Given the description of an element on the screen output the (x, y) to click on. 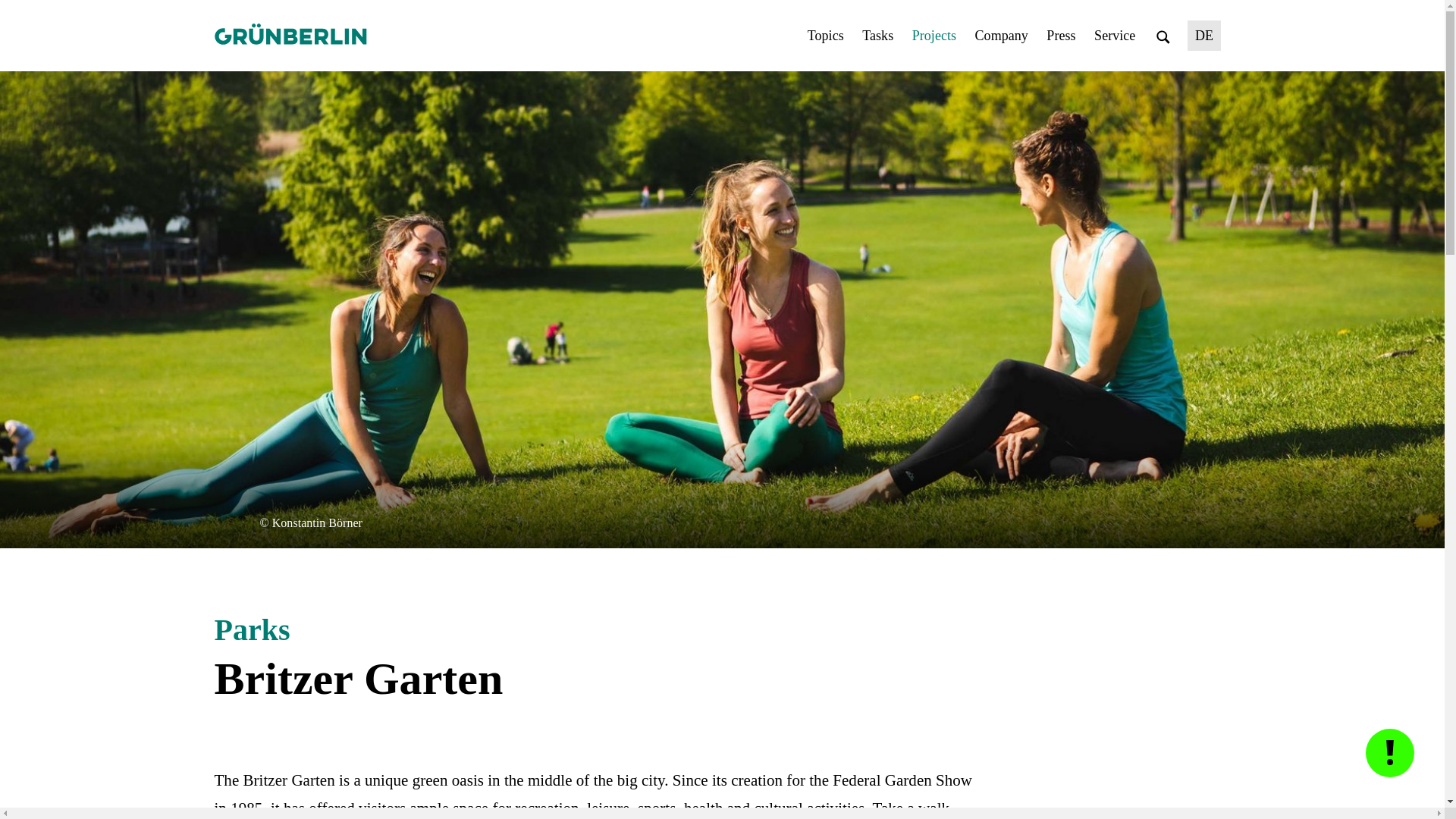
Search (1163, 35)
Service (1114, 35)
Topics (826, 35)
Company (1001, 35)
Topics (826, 35)
Projects (934, 35)
Tasks (877, 35)
Projects (934, 35)
Tasks (877, 35)
Service (1114, 35)
DE (1204, 35)
Press (1060, 35)
Company (1001, 35)
Press (1060, 35)
